Given the description of an element on the screen output the (x, y) to click on. 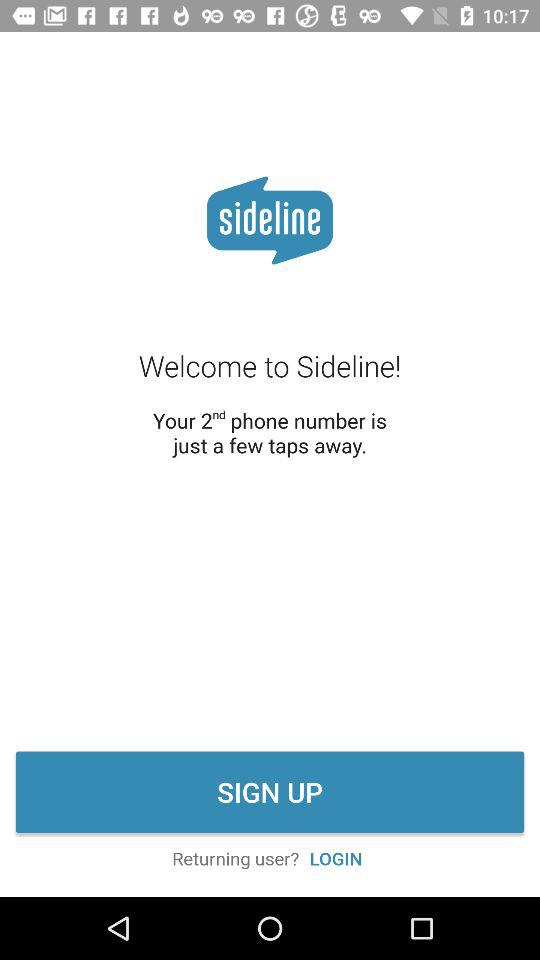
choose the login item (335, 858)
